Given the description of an element on the screen output the (x, y) to click on. 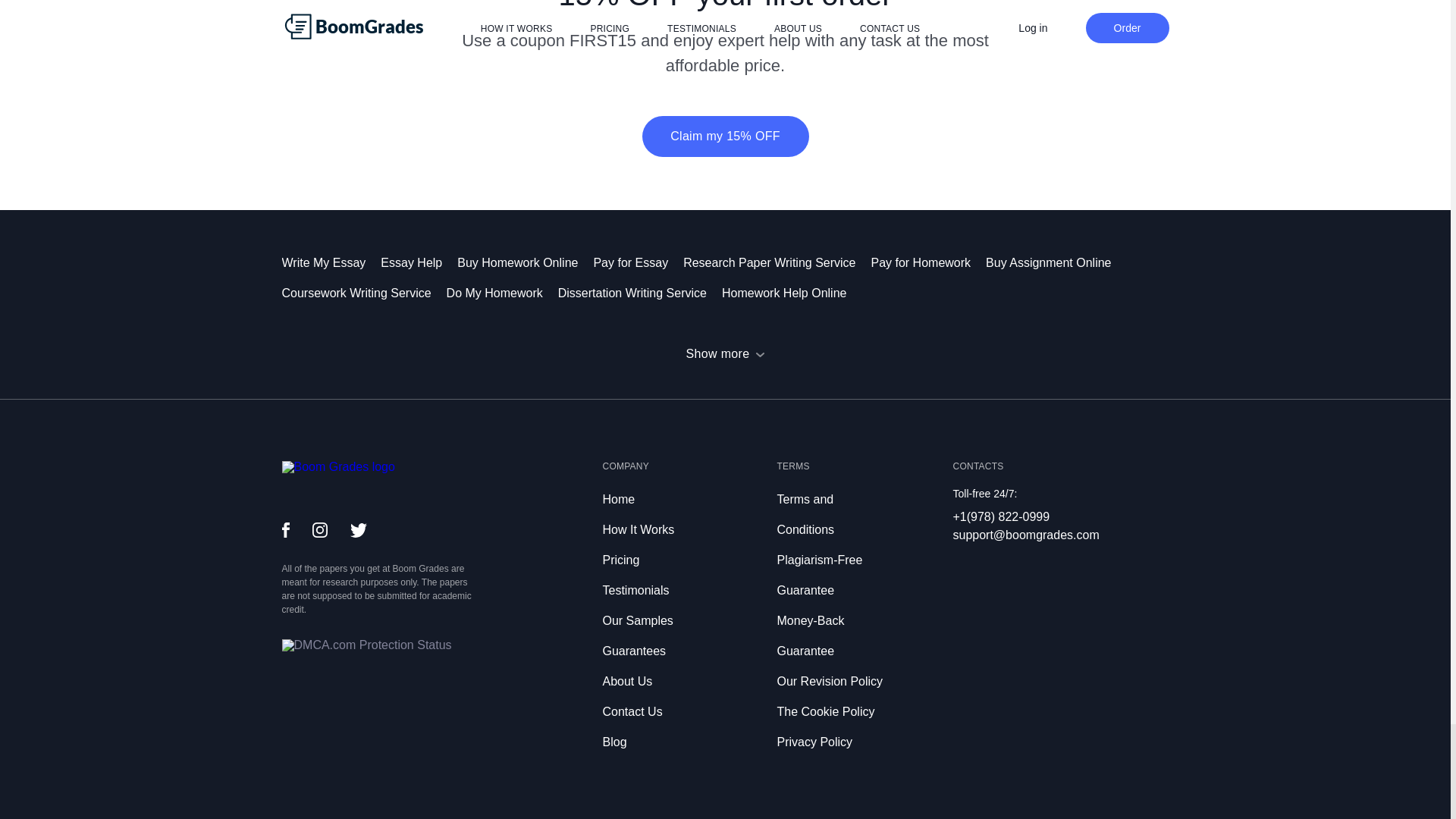
Buy Homework Online (524, 262)
Essay Help (418, 262)
Essay Help (418, 262)
Pay for Homework (927, 262)
Research Paper Writing Service (776, 262)
Pricing (620, 559)
Dissertation Writing Service (639, 292)
Home (618, 499)
Write My Essay (331, 262)
Buy Assignment Online (1055, 262)
Pay for Essay (637, 262)
Homework Help Online (791, 292)
Do My Homework (501, 292)
Show more (725, 353)
Coursework Writing Service (364, 292)
